Given the description of an element on the screen output the (x, y) to click on. 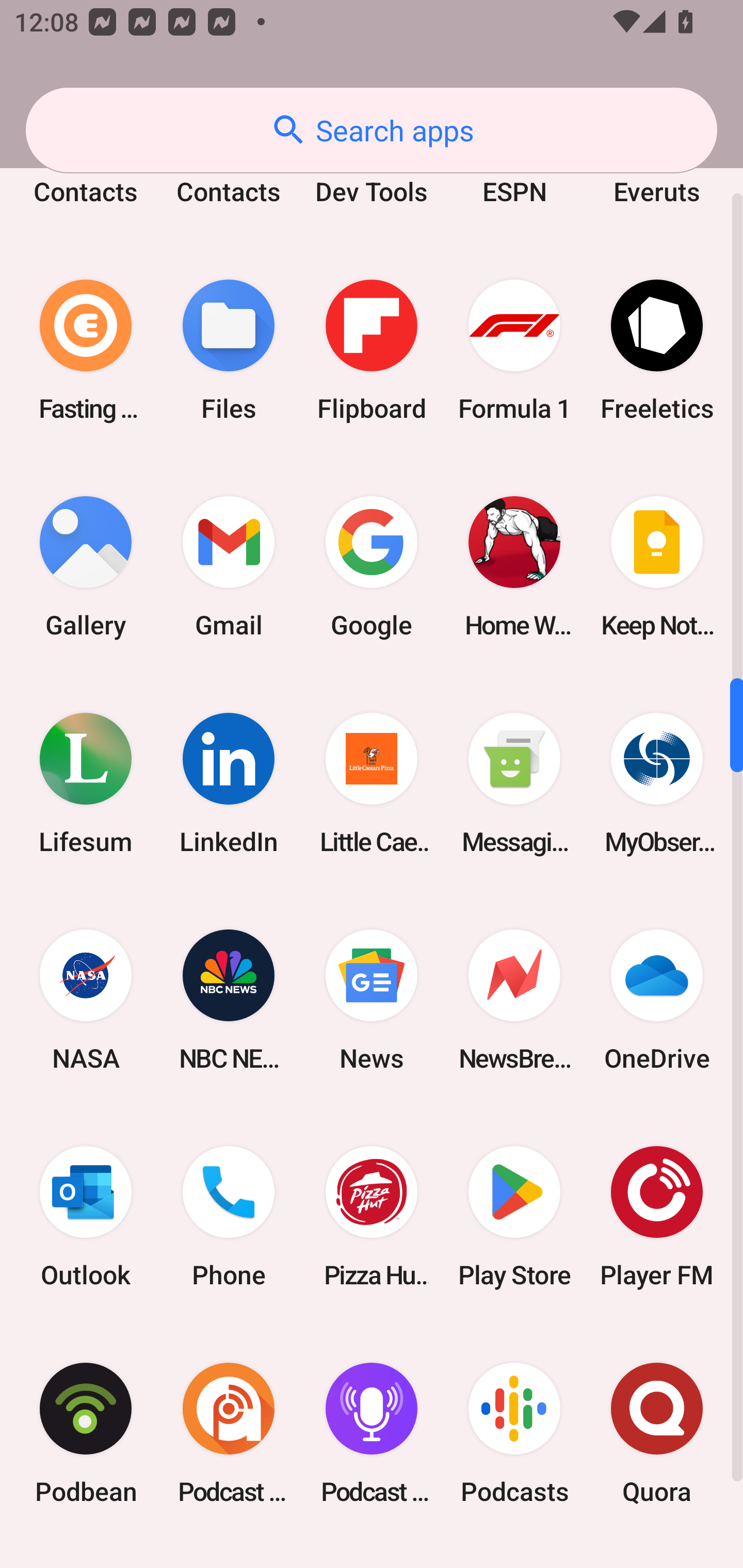
  Search apps (371, 130)
Fasting Coach (85, 349)
Files (228, 349)
Flipboard (371, 349)
Formula 1 (514, 349)
Freeletics (656, 349)
Gallery (85, 566)
Gmail (228, 566)
Google (371, 566)
Home Workout (514, 566)
Keep Notes (656, 566)
Lifesum (85, 783)
LinkedIn (228, 783)
Little Caesars Pizza (371, 783)
Messaging (514, 783)
MyObservatory (656, 783)
NASA (85, 1000)
NBC NEWS (228, 1000)
News (371, 1000)
NewsBreak (514, 1000)
OneDrive (656, 1000)
Outlook (85, 1216)
Phone (228, 1216)
Pizza Hut HK & Macau (371, 1216)
Play Store (514, 1216)
Player FM (656, 1216)
Podbean (85, 1432)
Podcast Addict (228, 1432)
Podcast Player (371, 1432)
Podcasts (514, 1432)
Quora (656, 1432)
